Given the description of an element on the screen output the (x, y) to click on. 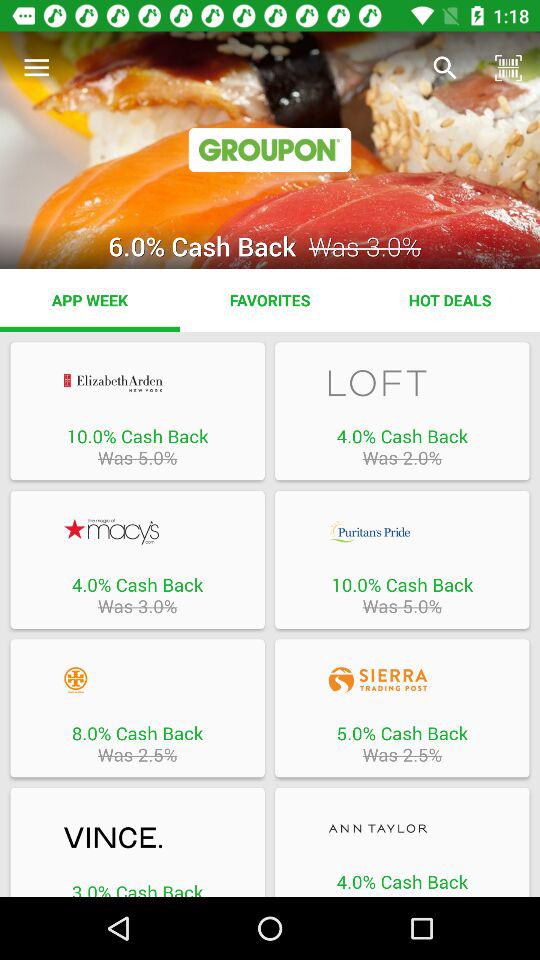
toggle option (402, 382)
